Given the description of an element on the screen output the (x, y) to click on. 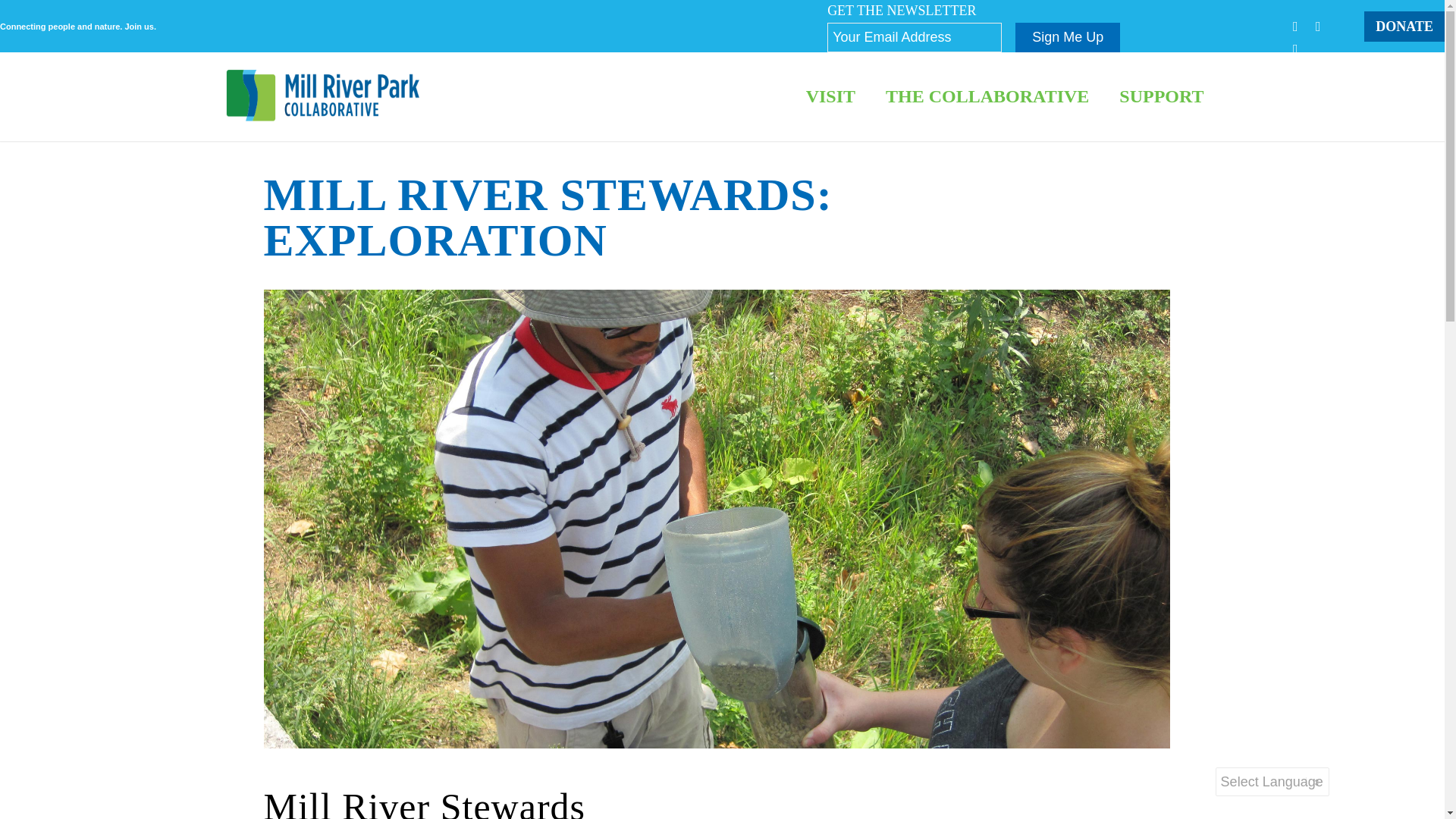
Sign Me Up (1066, 37)
Connecting people and nature. Join us. (77, 26)
Sign Me Up (1066, 37)
Facebook (1295, 26)
VISIT (830, 95)
mill-river-logo (322, 95)
Twitter (1317, 26)
Instagram (1295, 48)
